Given the description of an element on the screen output the (x, y) to click on. 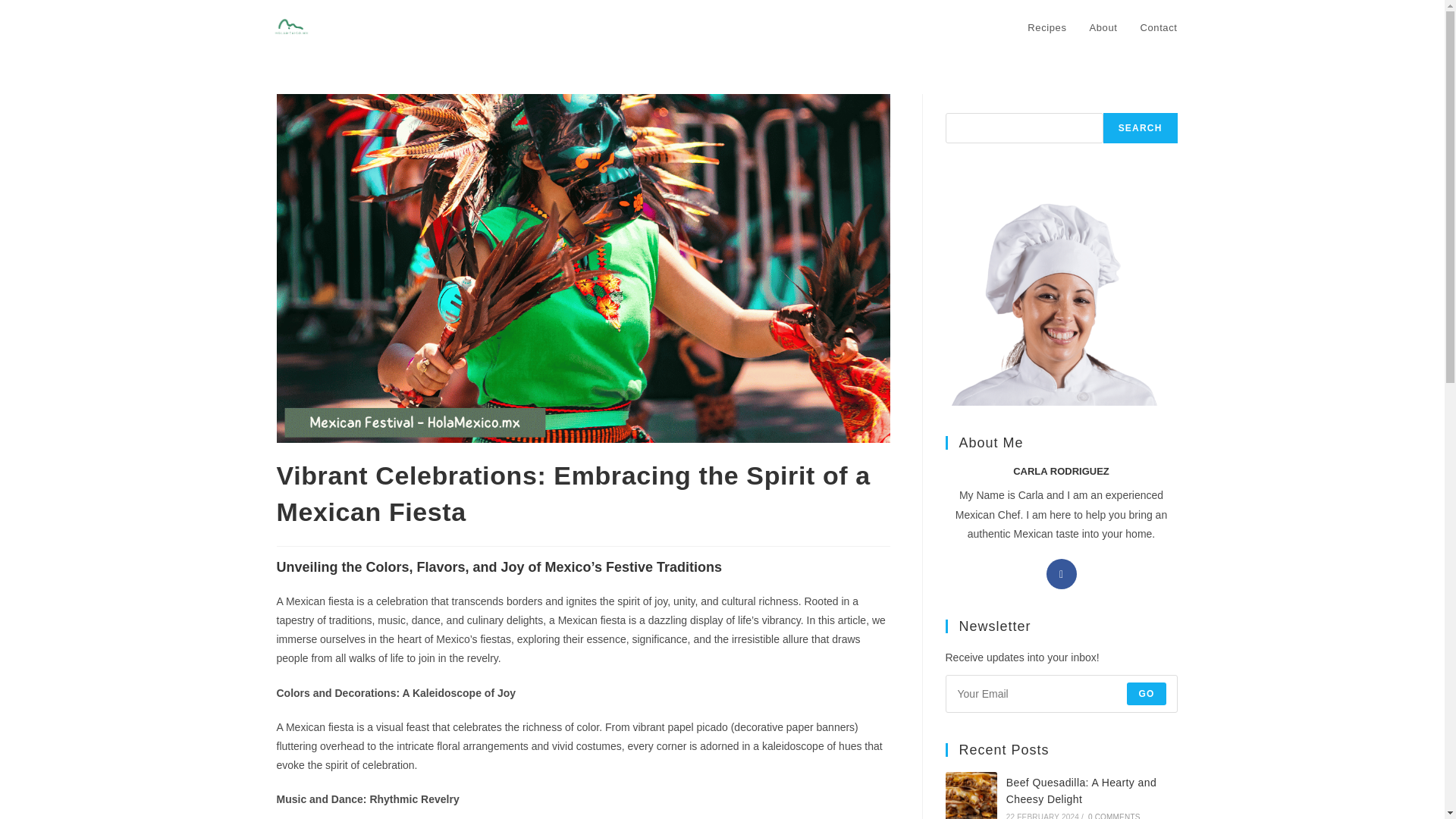
Beef Quesadilla: A Hearty and Cheesy Delight (969, 795)
Beef Quesadilla: A Hearty and Cheesy Delight (1081, 790)
0 COMMENTS (1113, 816)
SEARCH (1140, 128)
GO (1146, 693)
Recipes (1046, 28)
About (1103, 28)
Contact (1158, 28)
